Given the description of an element on the screen output the (x, y) to click on. 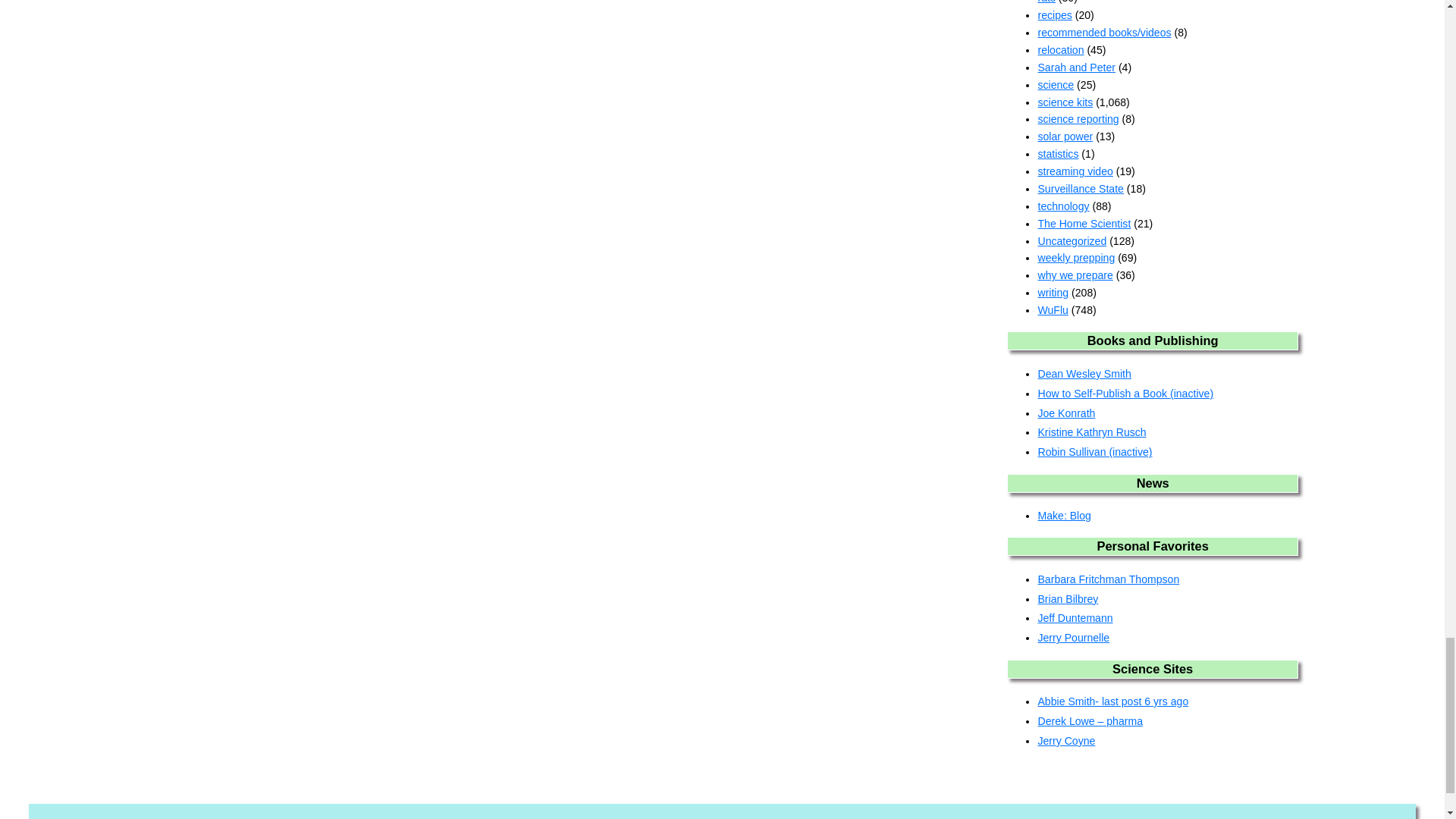
Writer site, comments about publishing industry (1070, 413)
Personal blog (1072, 598)
Last updated 5 yrs ago (1130, 393)
commentary on drug discovery and the pharma industry (1094, 720)
